Given the description of an element on the screen output the (x, y) to click on. 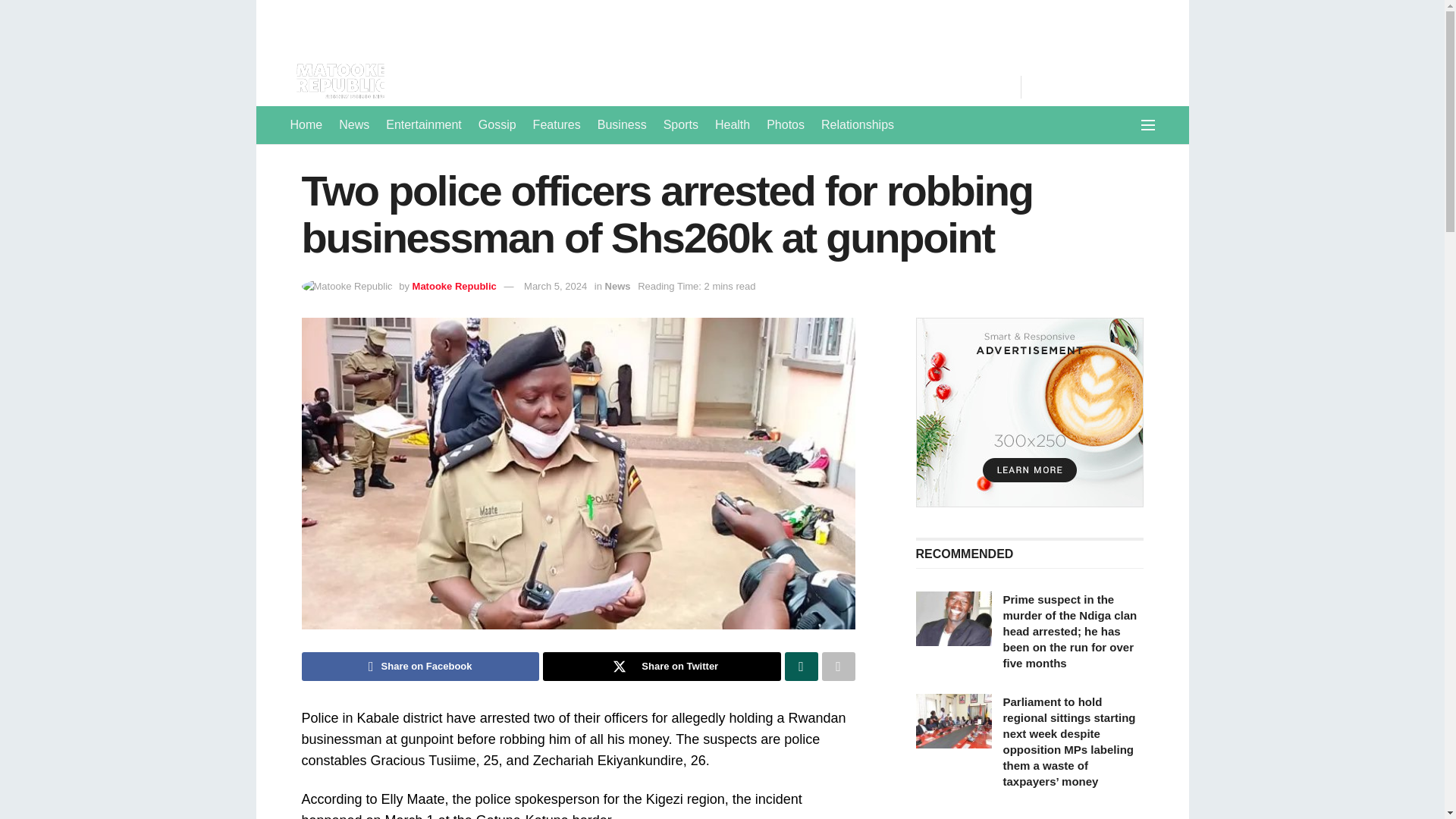
Share on Facebook (420, 665)
Matooke Republic (454, 285)
Entertainment (423, 124)
Share on Twitter (661, 665)
March 5, 2024 (555, 285)
Sports (680, 124)
Gossip (497, 124)
News (354, 124)
Business (621, 124)
Health (731, 124)
